Given the description of an element on the screen output the (x, y) to click on. 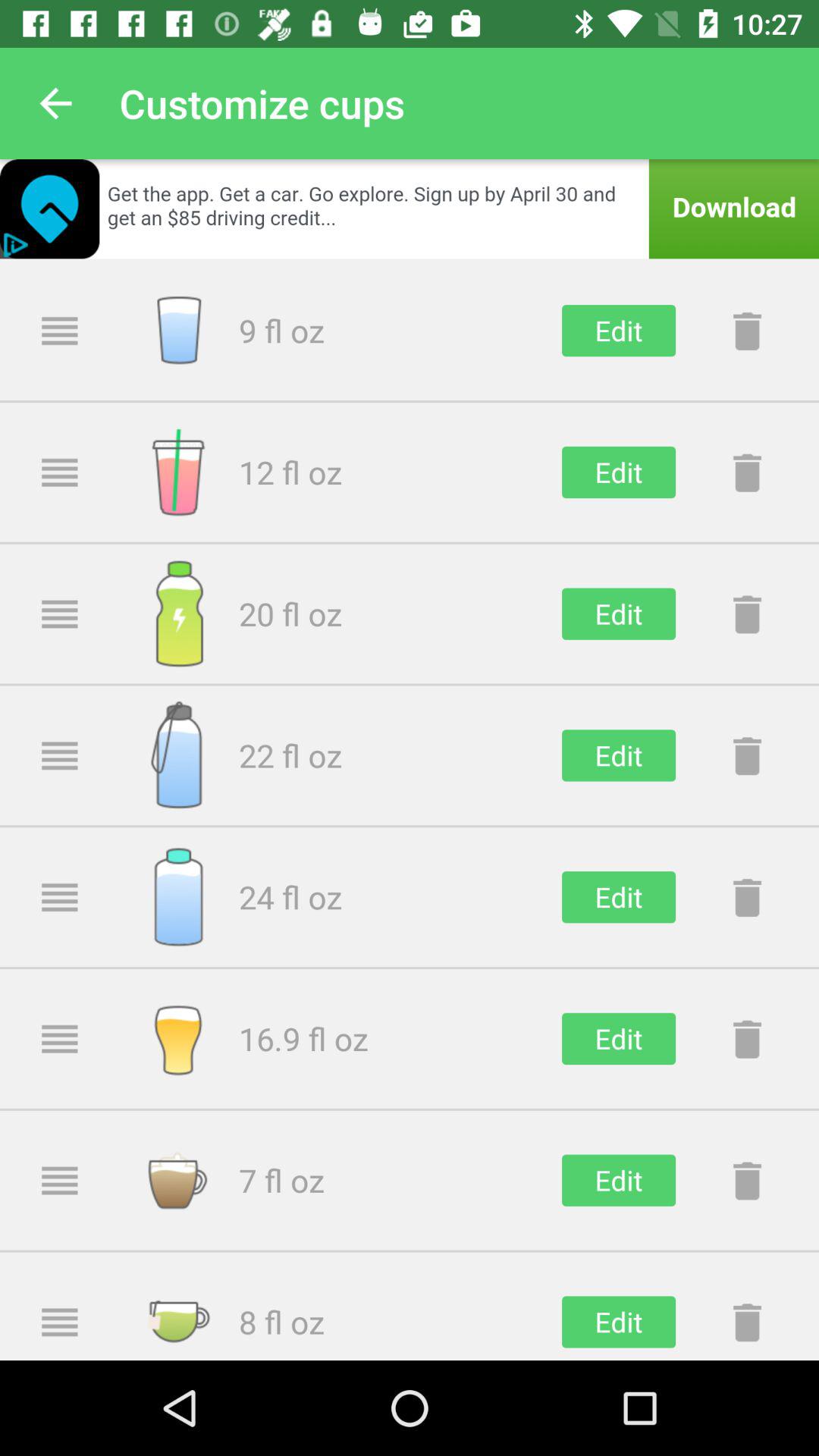
delete item button (747, 1038)
